Given the description of an element on the screen output the (x, y) to click on. 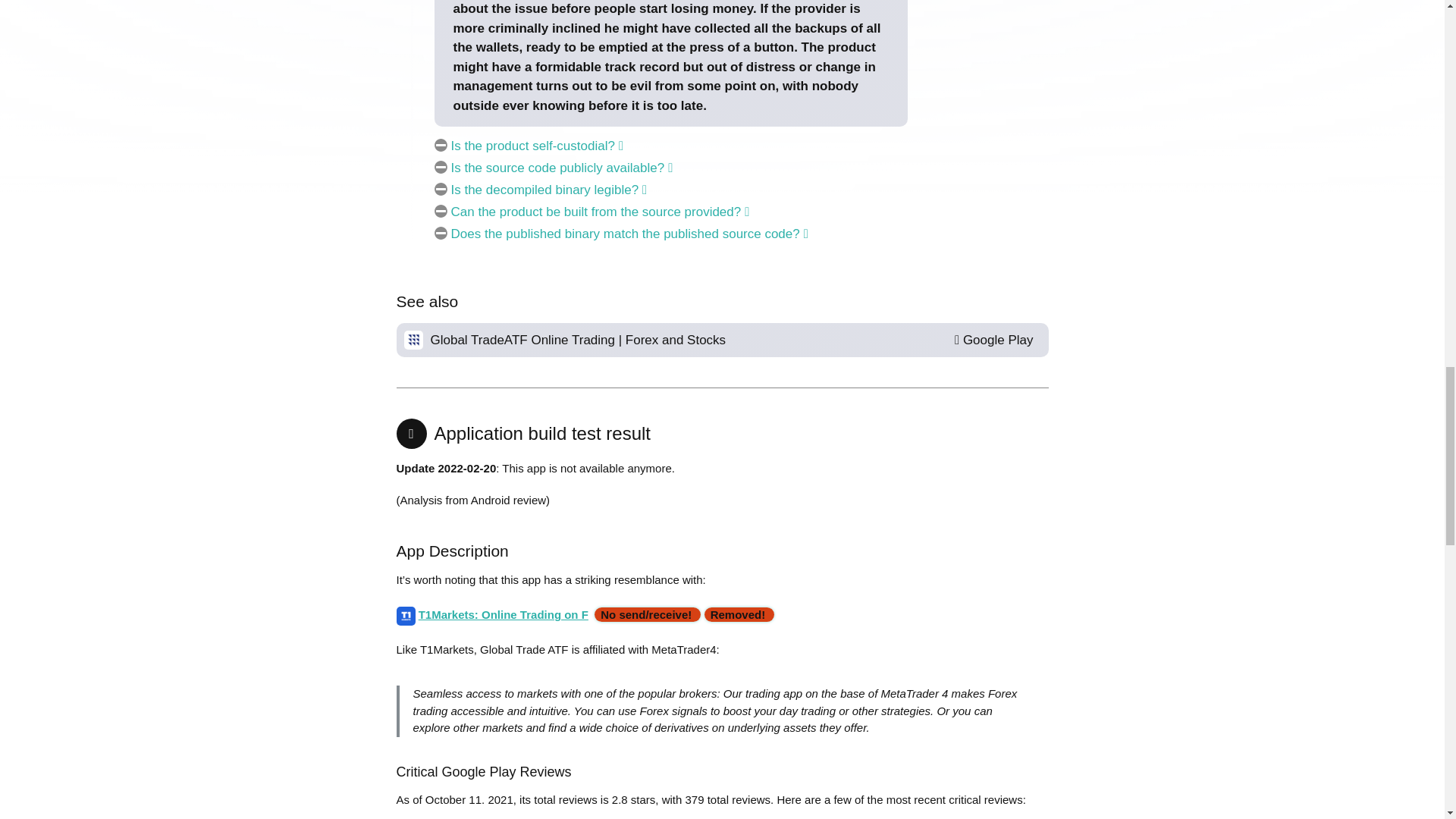
Click or tap here to learn more about this verdict (737, 614)
T1Markets: Online Trading on F (503, 614)
Click or tap here to learn more about this verdict (645, 614)
